Given the description of an element on the screen output the (x, y) to click on. 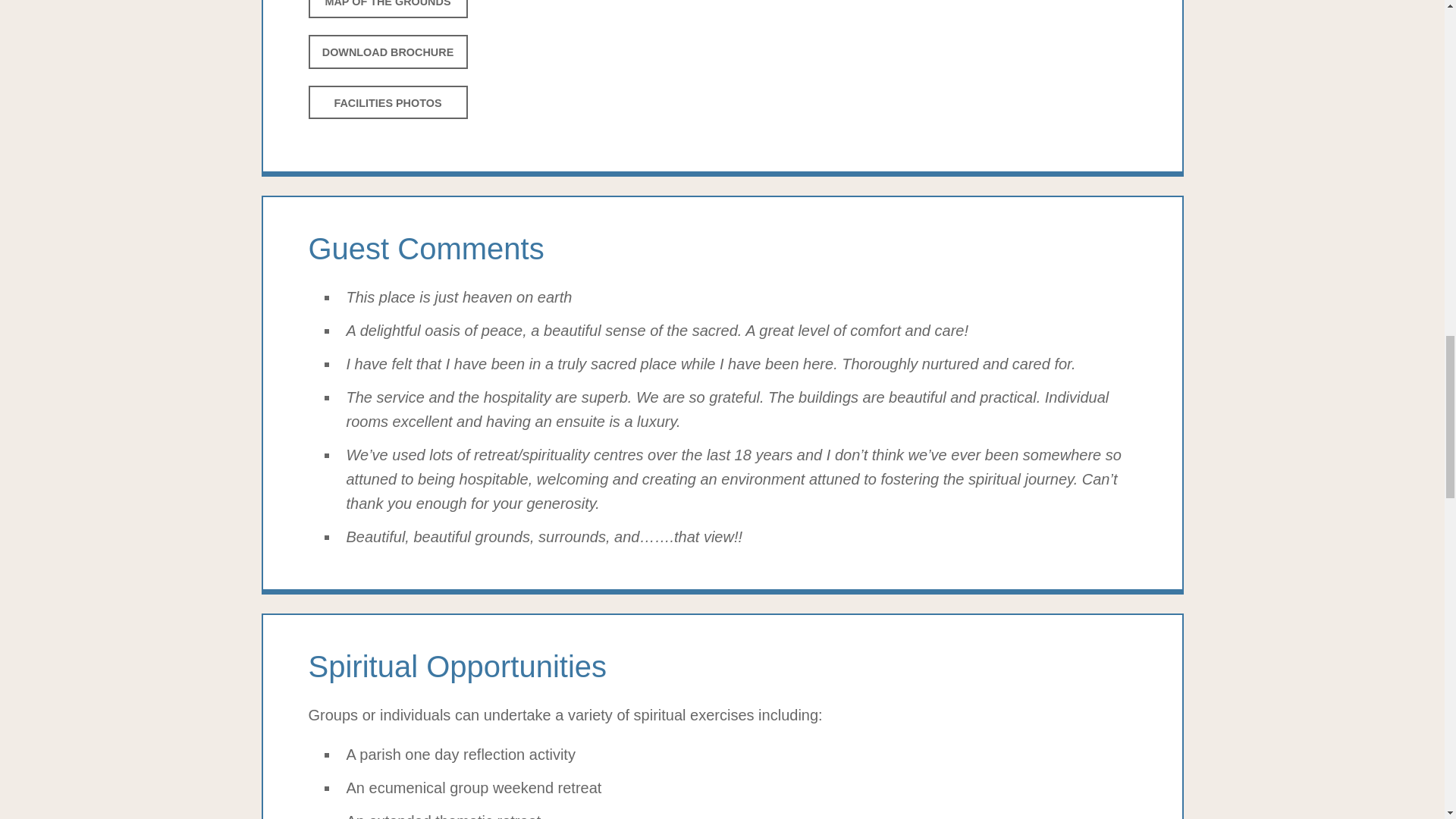
FACILITIES PHOTOS (387, 102)
DOWNLOAD BROCHURE (387, 51)
MAP OF THE GROUNDS (387, 9)
Guest Comments (721, 248)
Spiritual Opportunities (721, 666)
